Given the description of an element on the screen output the (x, y) to click on. 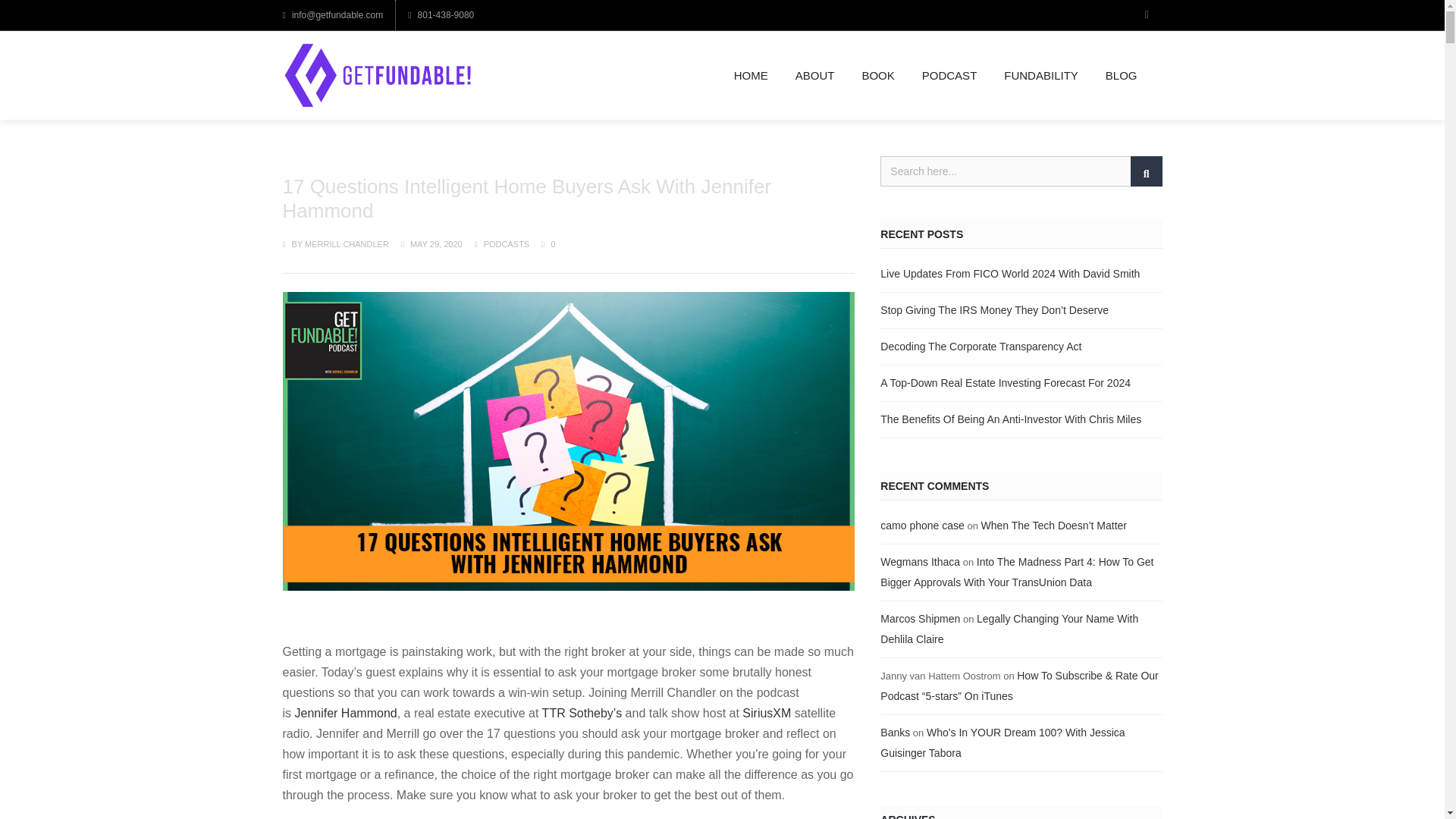
Posts by Merrill Chandler (346, 243)
HOME (750, 75)
Jennifer Hammond (345, 712)
SiriusXM (766, 712)
FUNDABILITY (1041, 75)
View all posts in Podcasts (506, 243)
MERRILL CHANDLER (346, 243)
0 (547, 243)
Search here... (1020, 171)
Get Fundable! (376, 74)
ABOUT (814, 75)
BLOG (1121, 75)
Search here... (1020, 171)
BOOK (877, 75)
PODCASTS (506, 243)
